Given the description of an element on the screen output the (x, y) to click on. 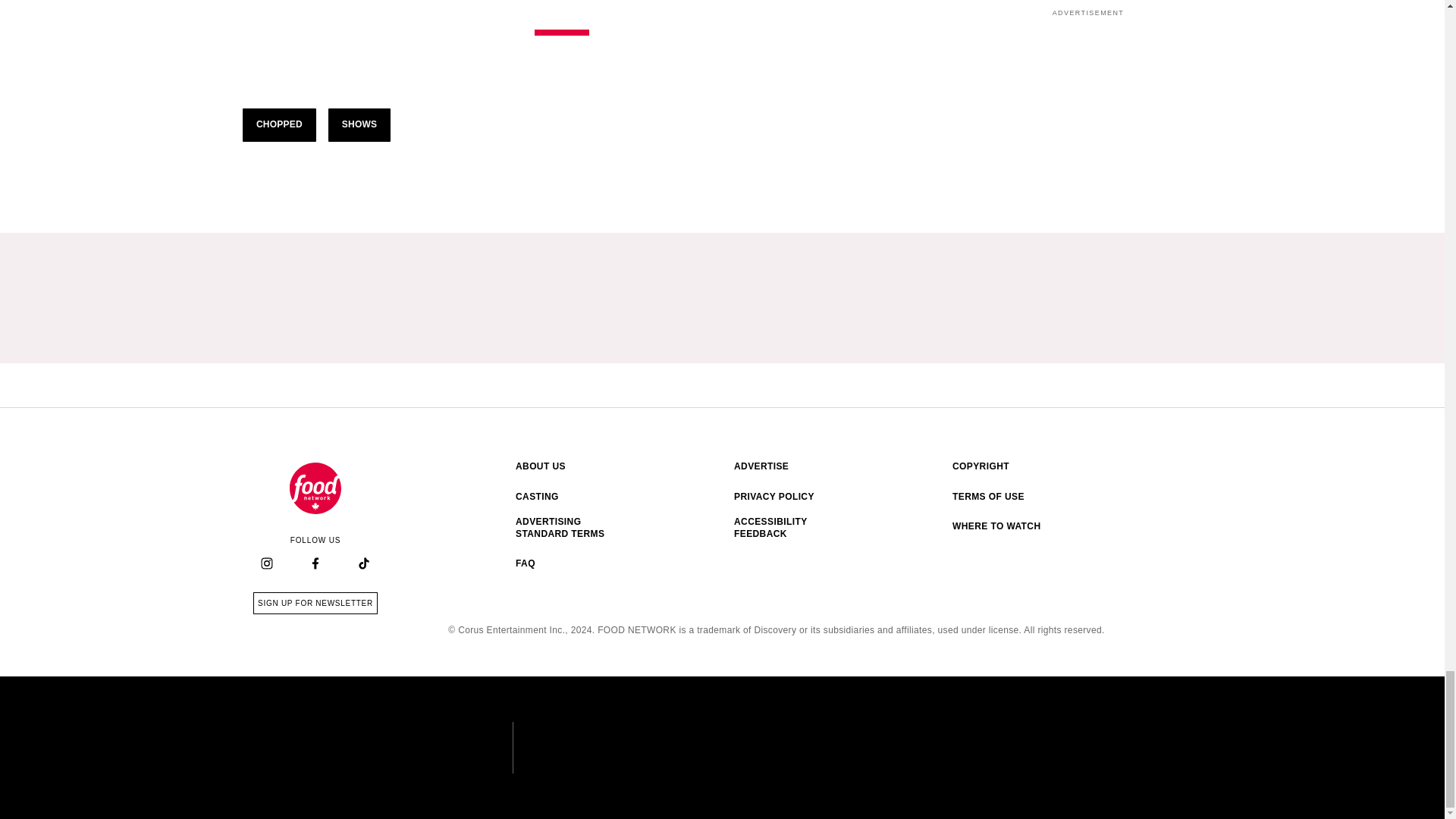
Follow Food Network Canada on Instagram (267, 564)
SHOWS (359, 124)
Instagram (266, 563)
CHOPPED (279, 124)
Food Network Canada home (315, 603)
Follow Food Network Canada on Facebook (314, 488)
